Given the description of an element on the screen output the (x, y) to click on. 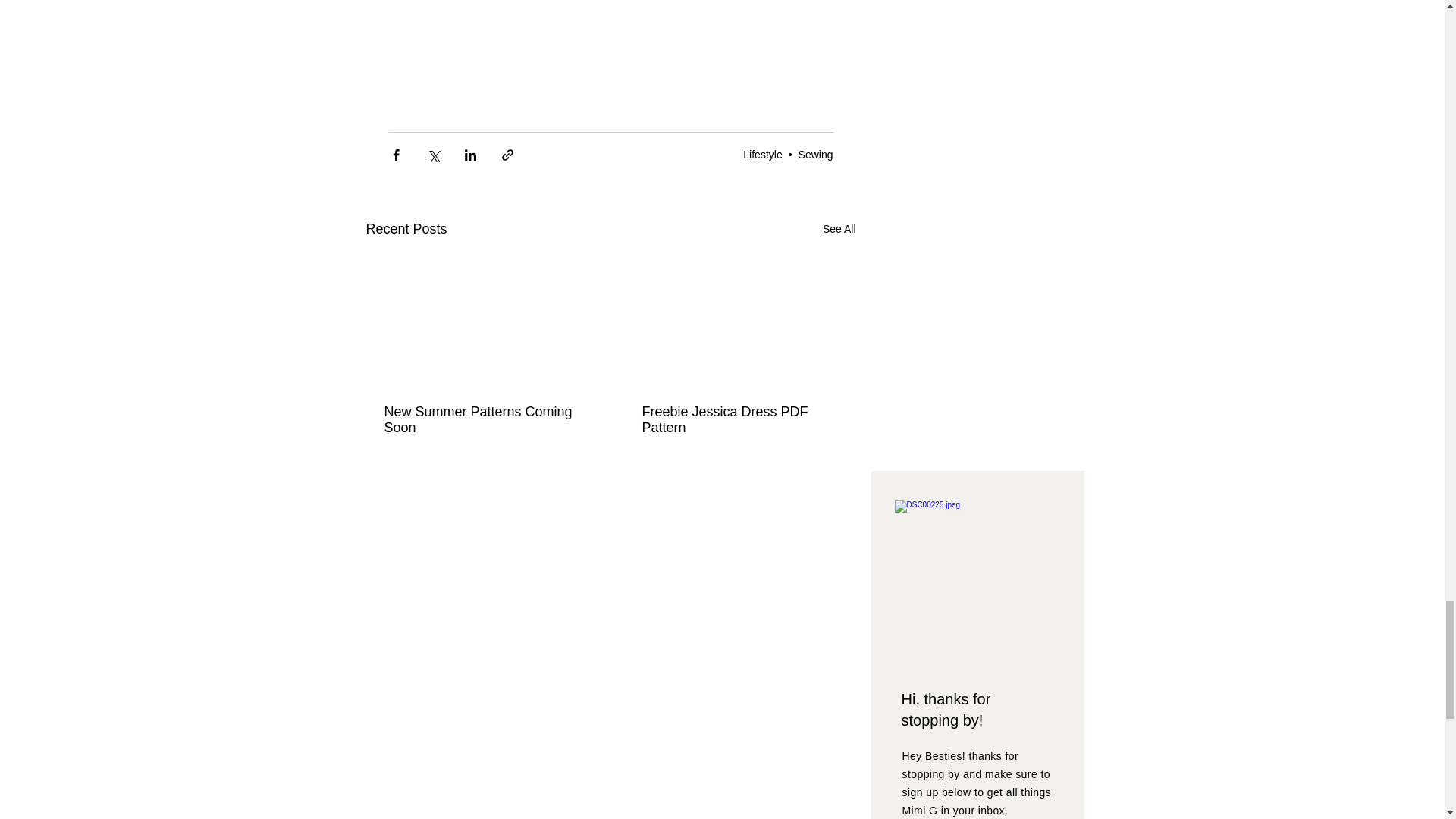
Sewing (814, 154)
New Summer Patterns Coming Soon (481, 419)
See All (839, 229)
Lifestyle (761, 154)
Freebie Jessica Dress PDF Pattern (739, 419)
